Given the description of an element on the screen output the (x, y) to click on. 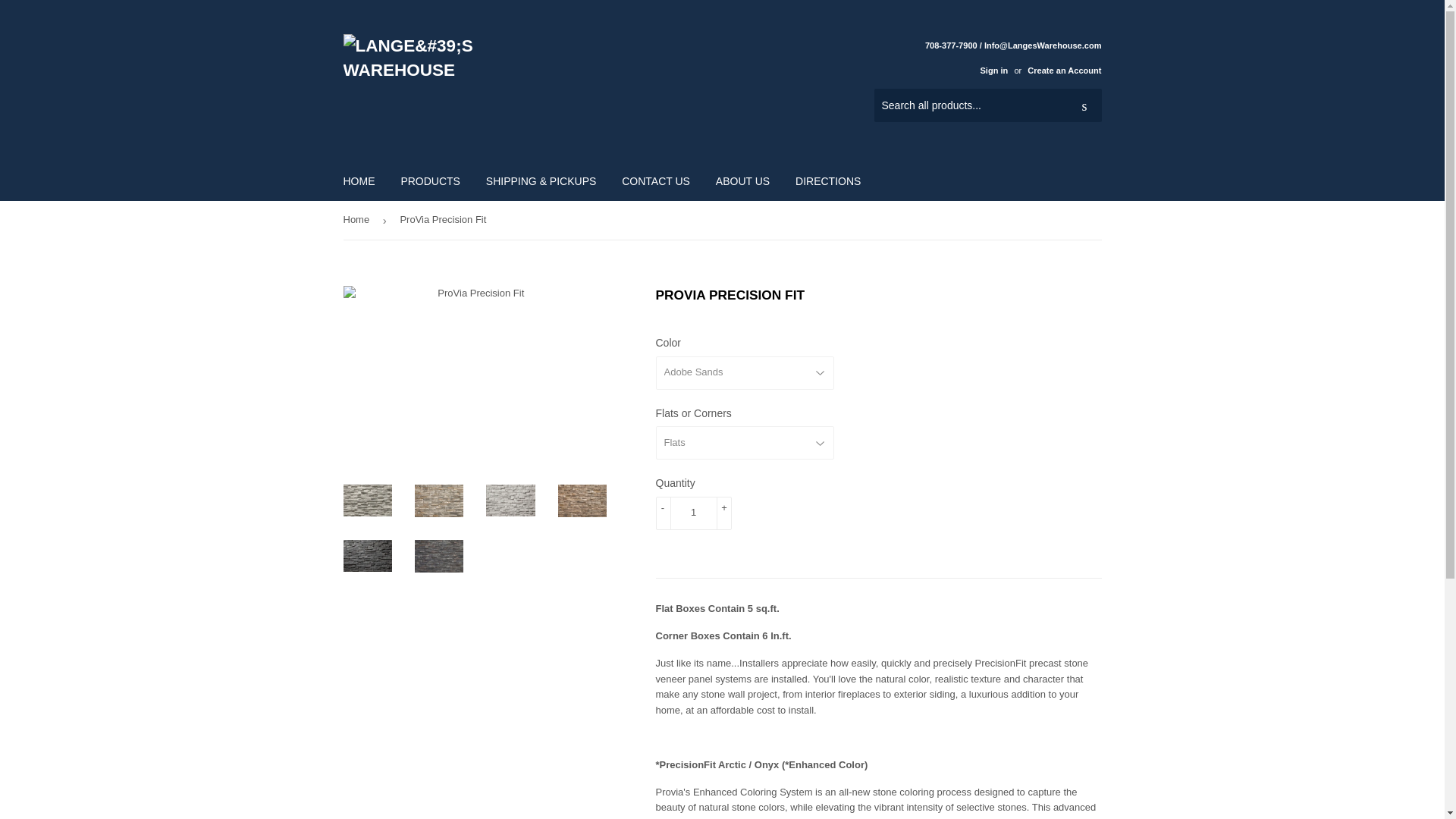
CONTACT US (655, 180)
DIRECTIONS (828, 180)
Create an Account (1063, 70)
1 (692, 512)
ABOUT US (742, 180)
HOME (359, 180)
PRODUCTS (429, 180)
Search (1084, 106)
Sign in (993, 70)
